Given the description of an element on the screen output the (x, y) to click on. 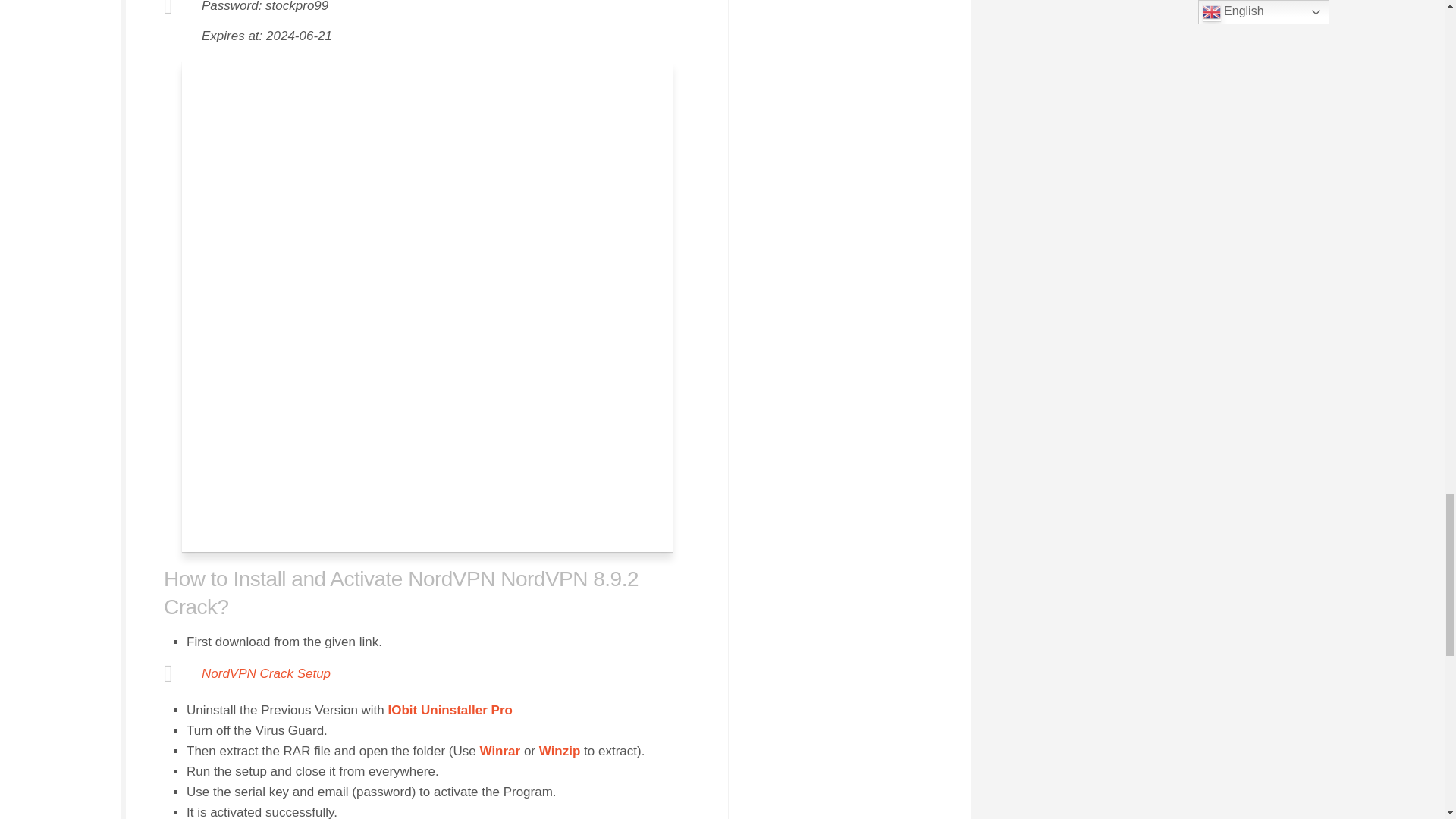
IObit Uninstaller Pro (450, 709)
NordVPN Crack Setup (266, 673)
Winzip (559, 750)
Winrar (499, 750)
